Given the description of an element on the screen output the (x, y) to click on. 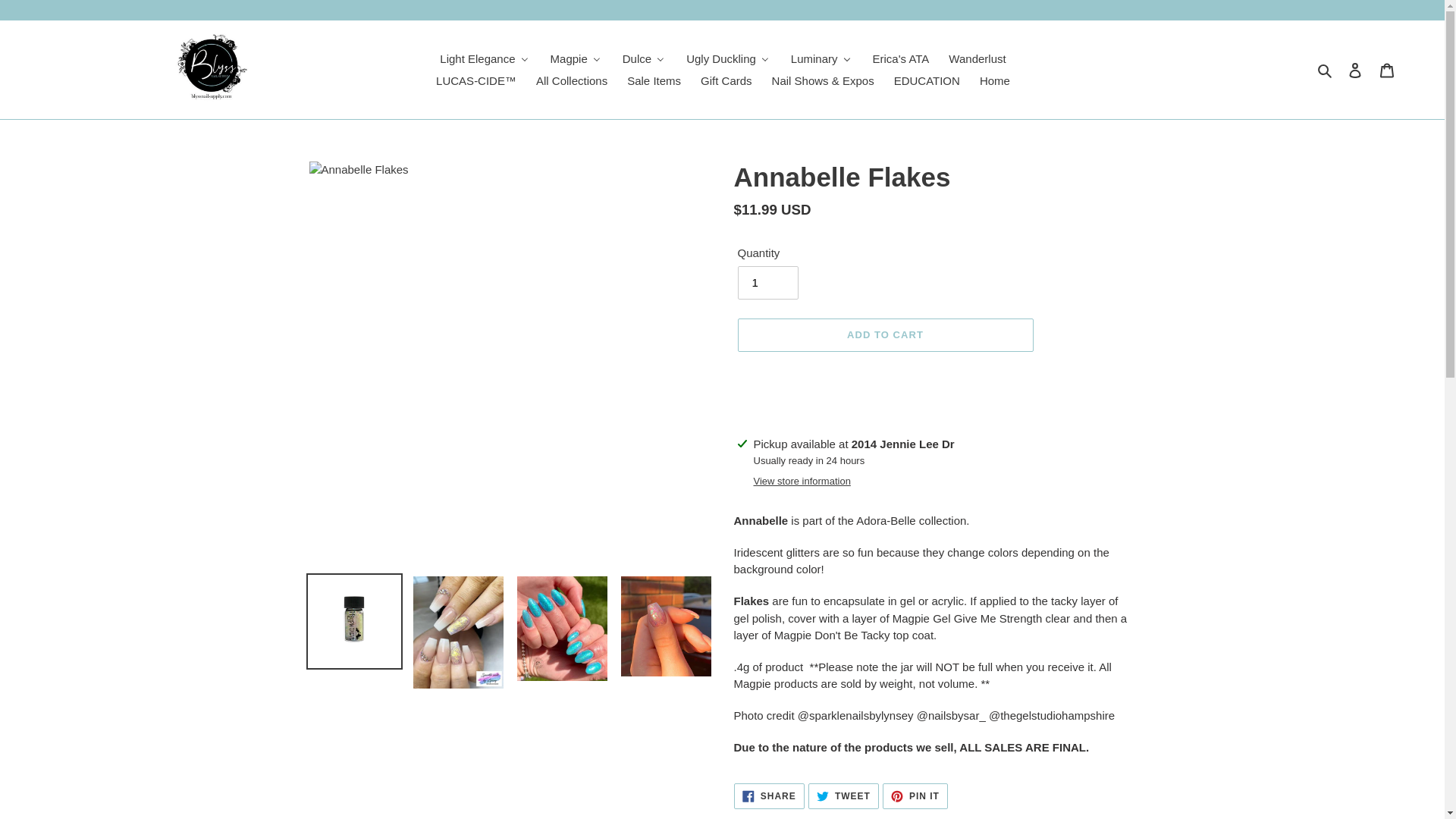
1 (766, 282)
Magpie (575, 58)
Light Elegance (483, 58)
Dulce (643, 58)
